Given the description of an element on the screen output the (x, y) to click on. 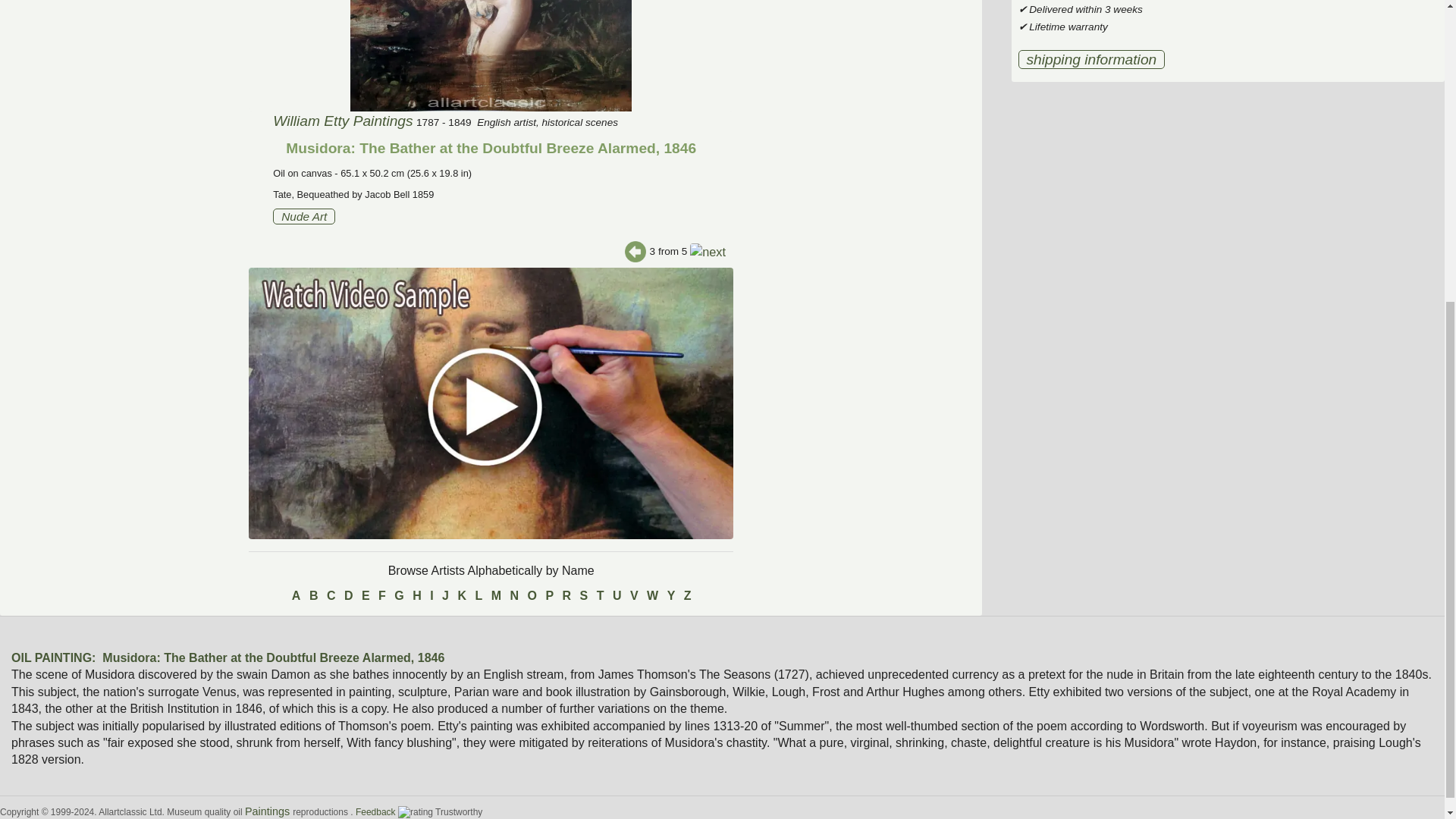
William Etty Paintings (342, 120)
I (431, 595)
N (514, 595)
Nude Art (303, 216)
D (348, 595)
P (549, 595)
Video sample showing the quality of our product (490, 402)
G (398, 595)
J (445, 595)
F (381, 595)
M (496, 595)
R (566, 595)
K (461, 595)
O (531, 595)
A (295, 595)
